Given the description of an element on the screen output the (x, y) to click on. 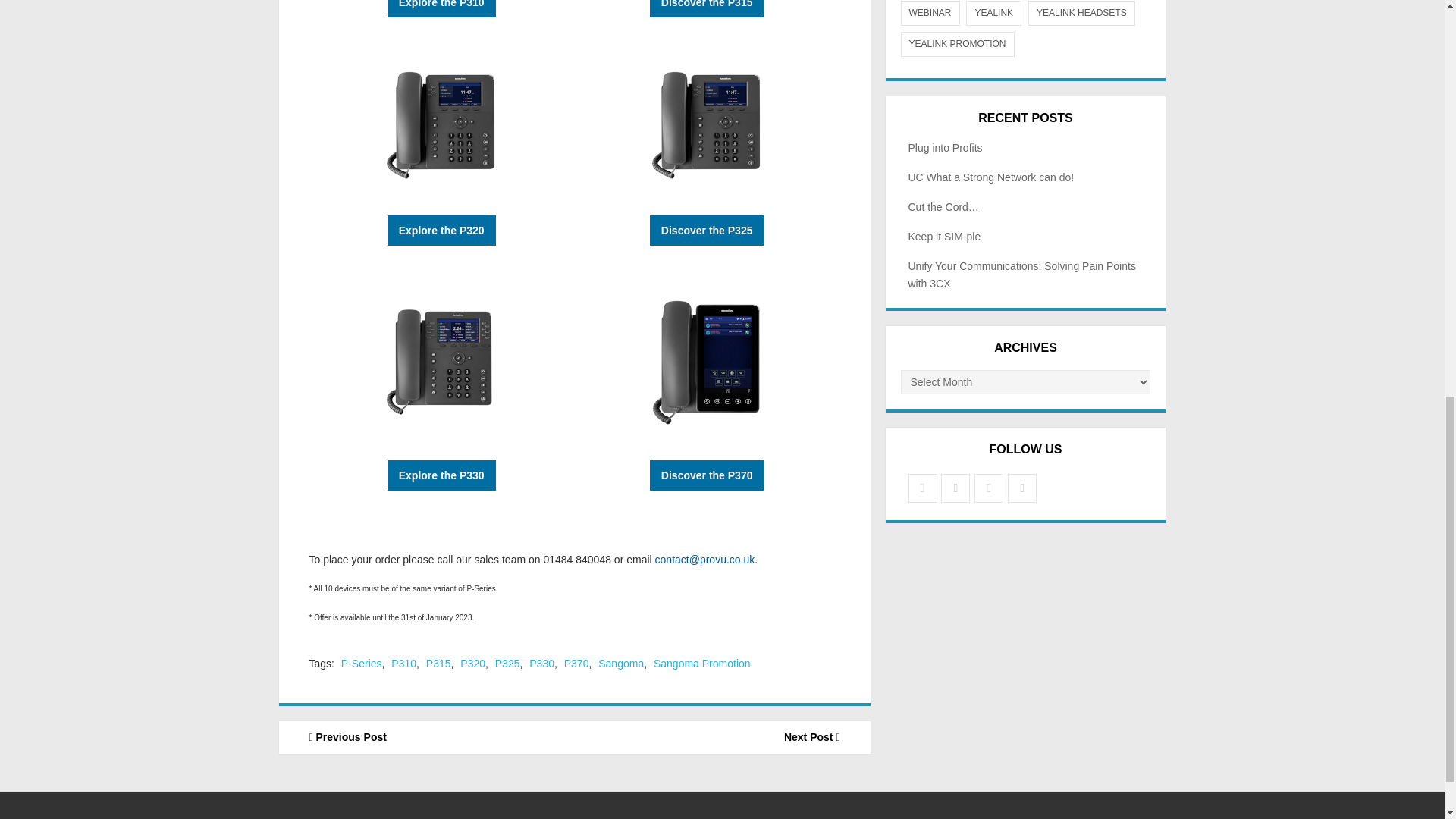
Discover the P315 (706, 8)
P310 (403, 663)
Sangoma (620, 663)
Discover the P370 (706, 475)
Sangoma Promotion (702, 663)
Previous Post (427, 737)
Explore the P320 (441, 230)
P-Series (360, 663)
Discover the P325 (706, 230)
P370 (576, 663)
